Given the description of an element on the screen output the (x, y) to click on. 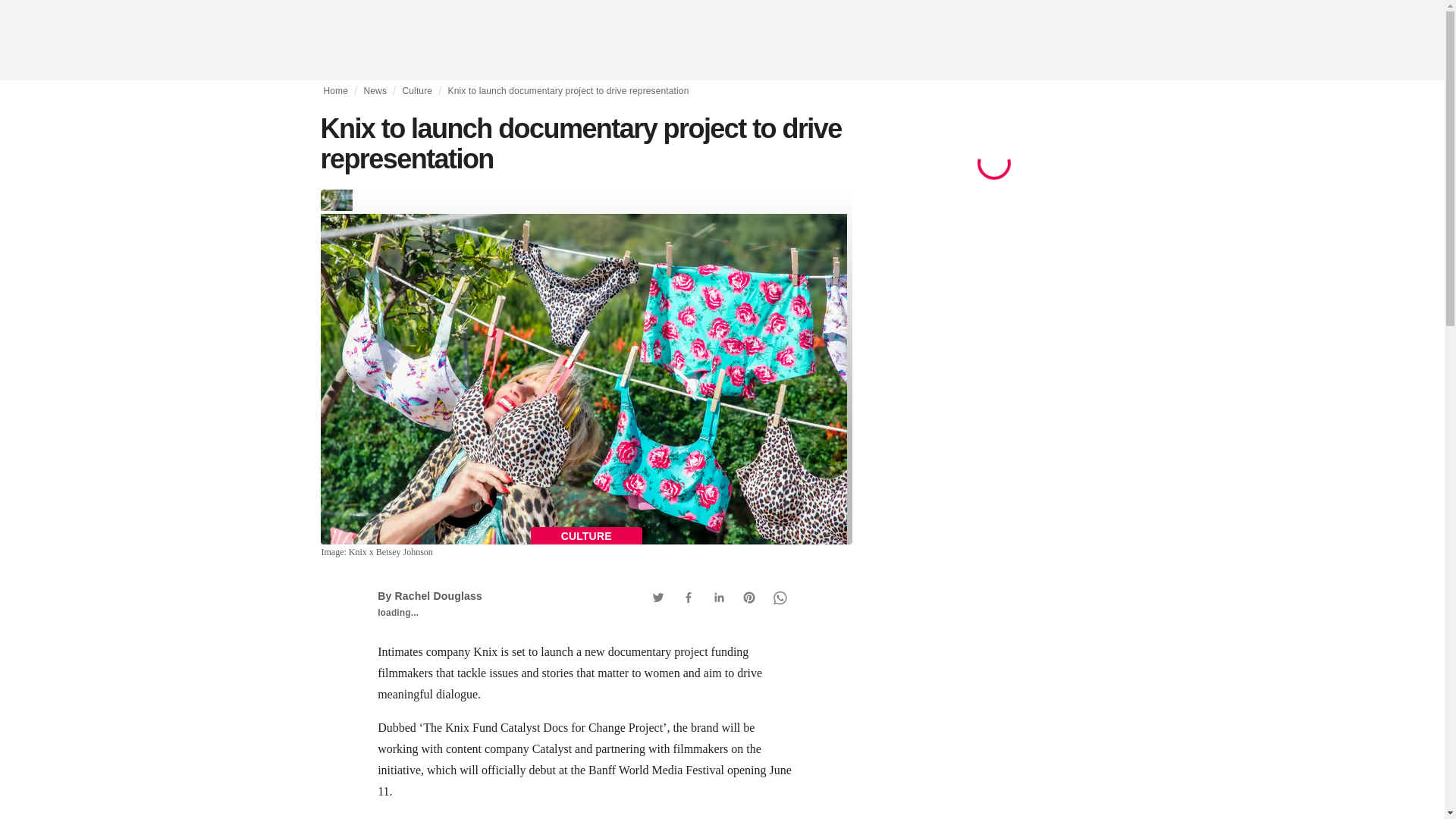
Home (335, 90)
News (375, 90)
By Rachel Douglass (429, 595)
Culture (416, 90)
Knix to launch documentary project to drive representation (568, 90)
